Given the description of an element on the screen output the (x, y) to click on. 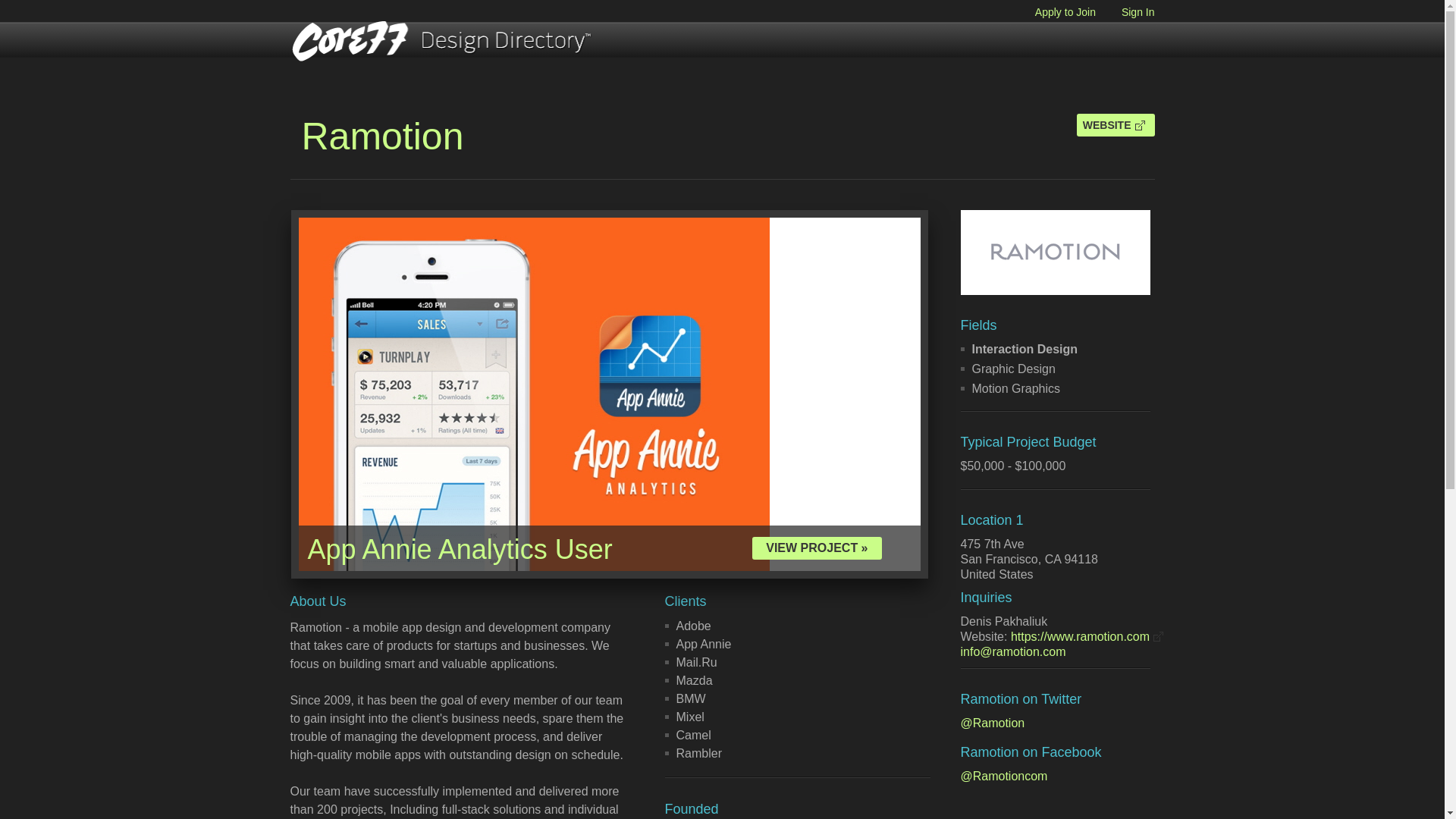
Ramotion (382, 136)
Sign In (1126, 11)
Apply to Join (1053, 11)
WEBSITE (1115, 124)
